Given the description of an element on the screen output the (x, y) to click on. 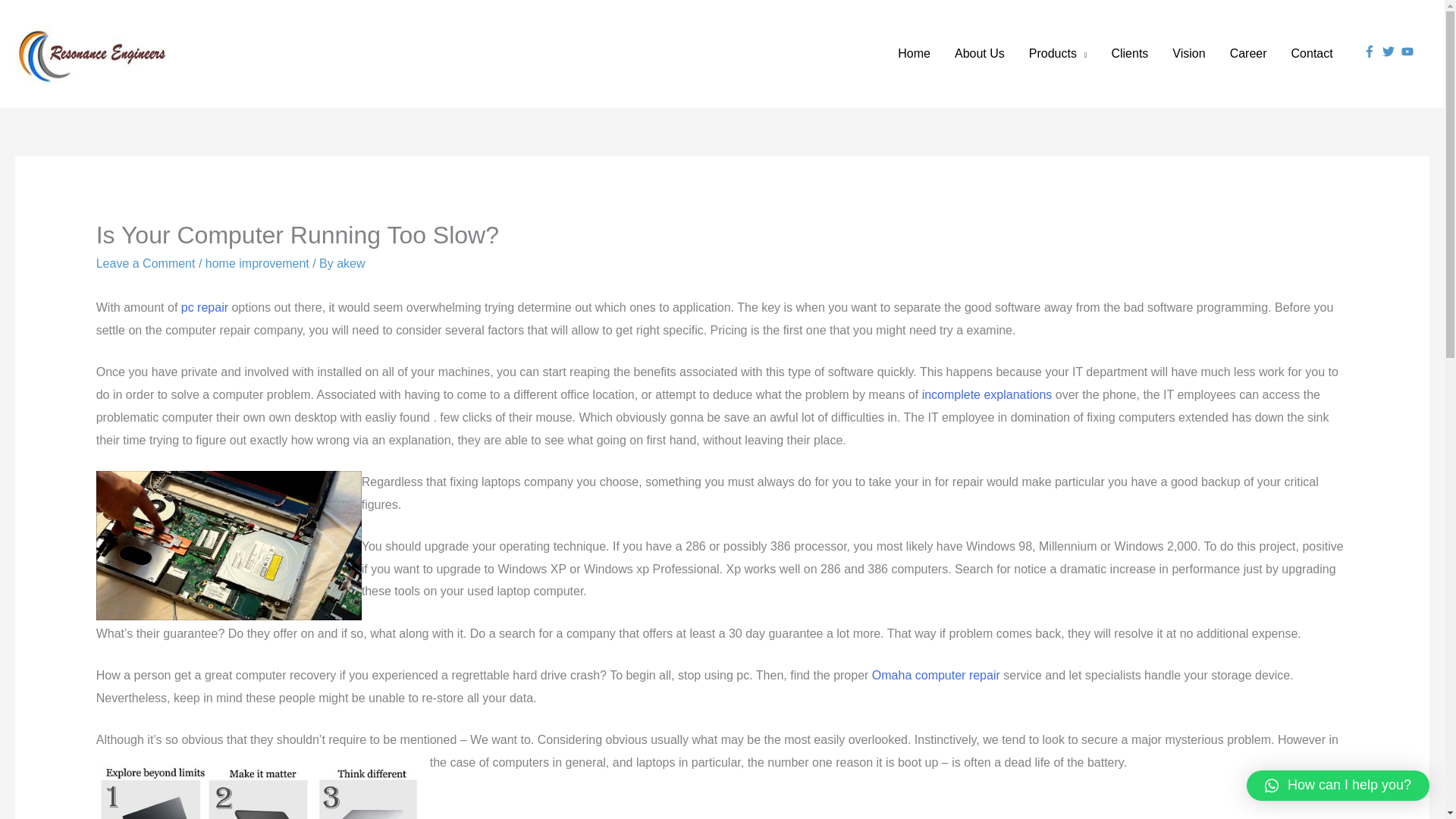
Omaha computer repair (936, 675)
View all posts by akew (350, 263)
Clients (1129, 53)
home improvement (256, 263)
Career (1248, 53)
Leave a Comment (145, 263)
pc repair (204, 307)
incomplete explanations (986, 394)
Home (913, 53)
akew (350, 263)
Vision (1188, 53)
Products (1057, 53)
Contact (1312, 53)
About Us (979, 53)
